Given the description of an element on the screen output the (x, y) to click on. 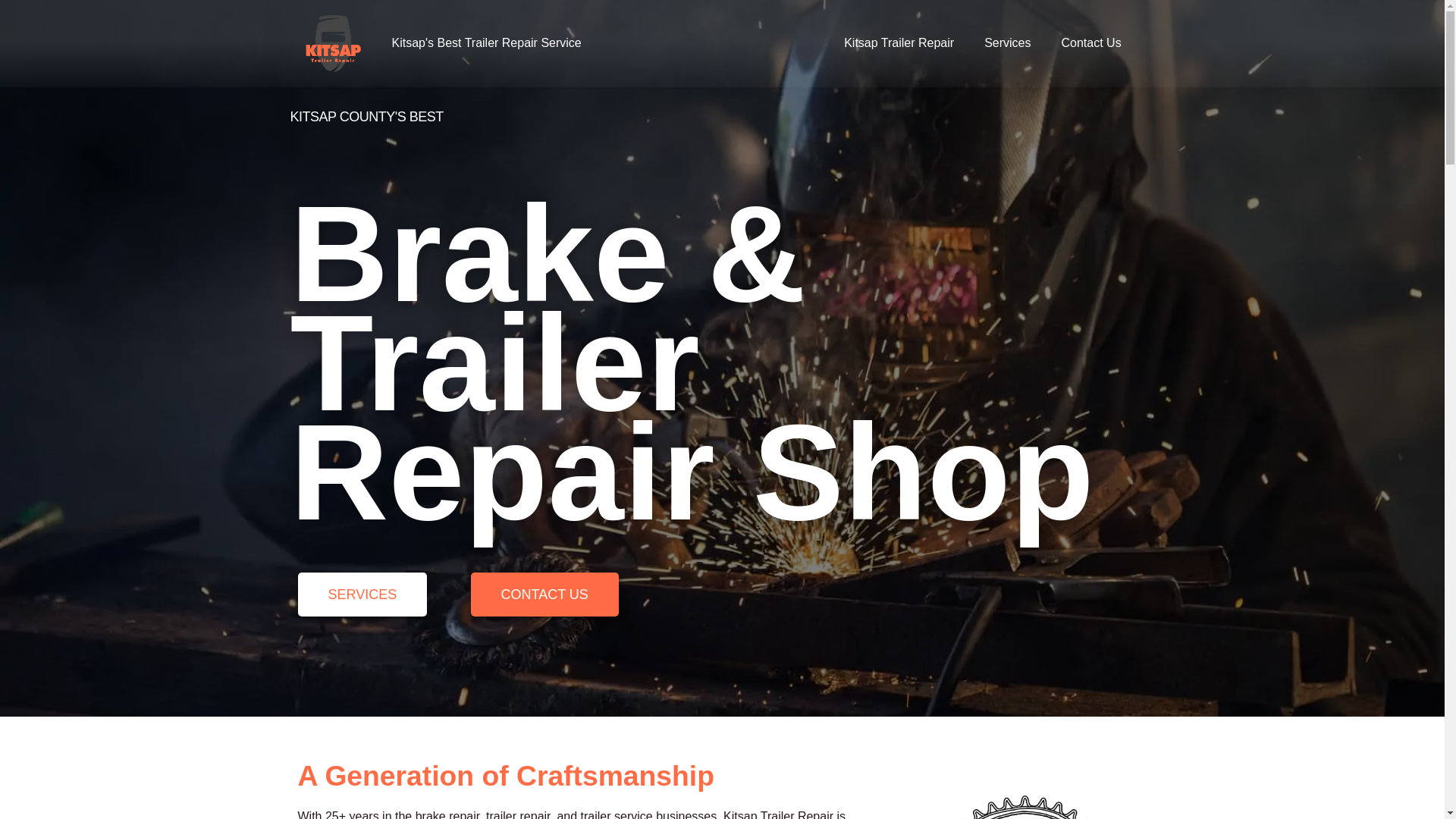
SERVICES (361, 594)
CONTACT US (543, 594)
Services (1007, 42)
Contact Us (1091, 42)
Kitsap Trailer Repair (898, 42)
